Given the description of an element on the screen output the (x, y) to click on. 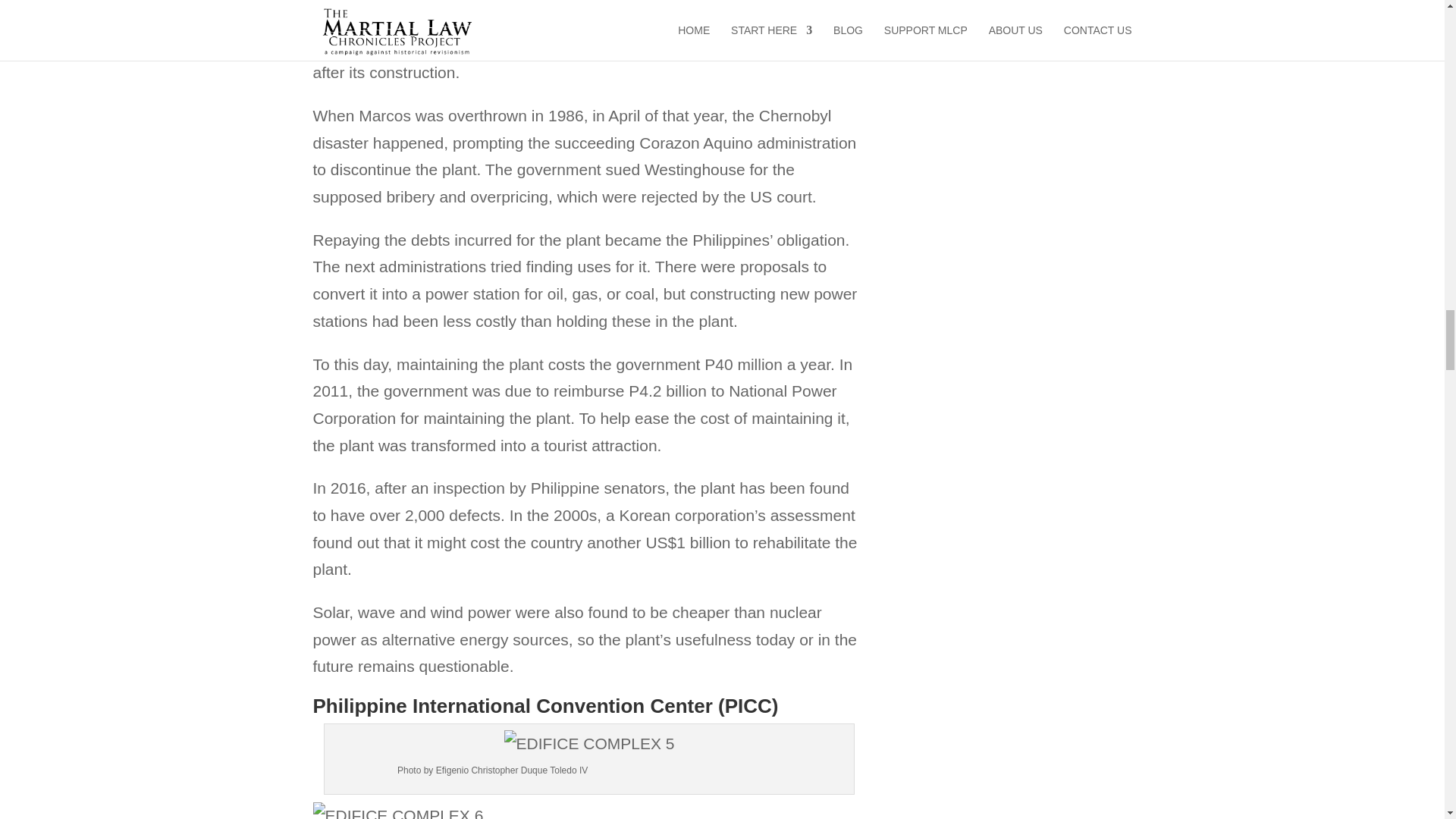
EDIFICE COMPLEX 5 (589, 743)
EDIFICE COMPLEX 6 (588, 810)
